Given the description of an element on the screen output the (x, y) to click on. 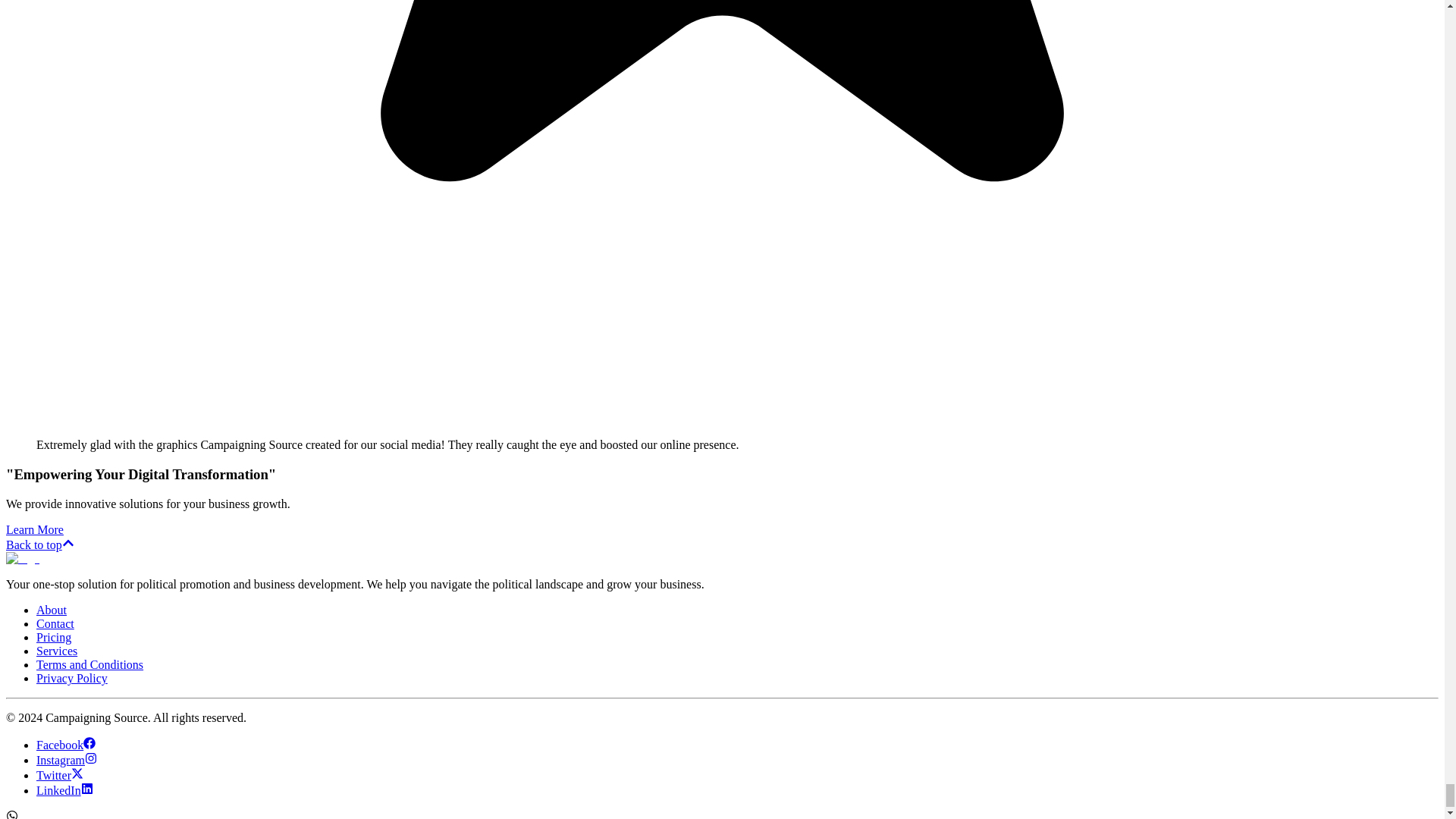
Learn More (34, 529)
Pricing (53, 636)
Privacy Policy (71, 677)
Facebook (66, 744)
Instagram (66, 759)
Contact (55, 623)
Terms and Conditions (89, 664)
LinkedIn (64, 789)
About (51, 609)
Back to top (39, 544)
